Given the description of an element on the screen output the (x, y) to click on. 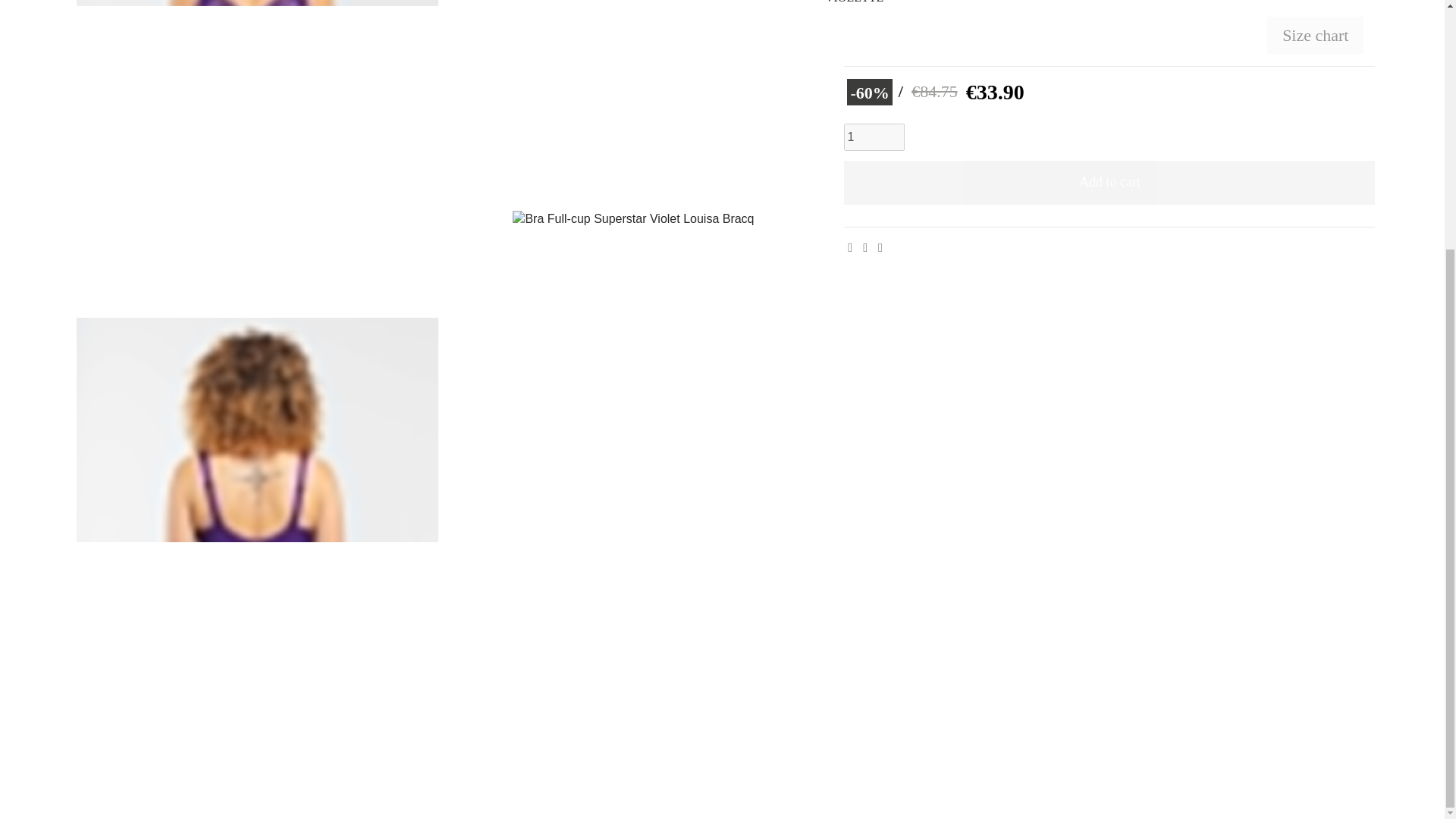
1 (874, 136)
Bra Full-cup Superstar Violet Louisa Bracq (257, 151)
Bra Full-cup Superstar Violet Louisa Bracq (632, 97)
